Given the description of an element on the screen output the (x, y) to click on. 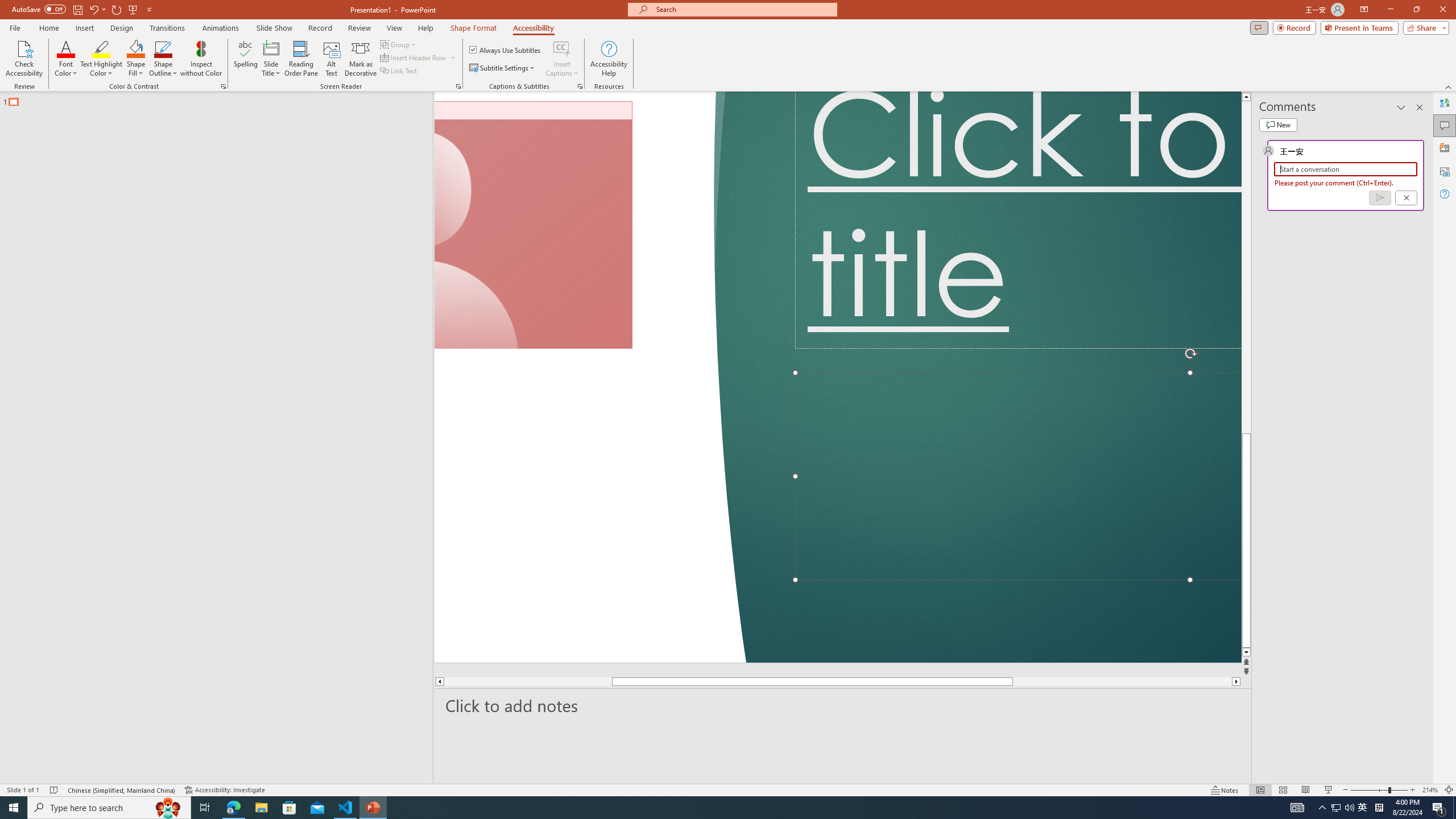
Slide Title (271, 58)
Shape Outline Blue, Accent 1 (163, 48)
Subtitle Settings (502, 67)
Spelling... (245, 58)
Outline (220, 99)
